Given the description of an element on the screen output the (x, y) to click on. 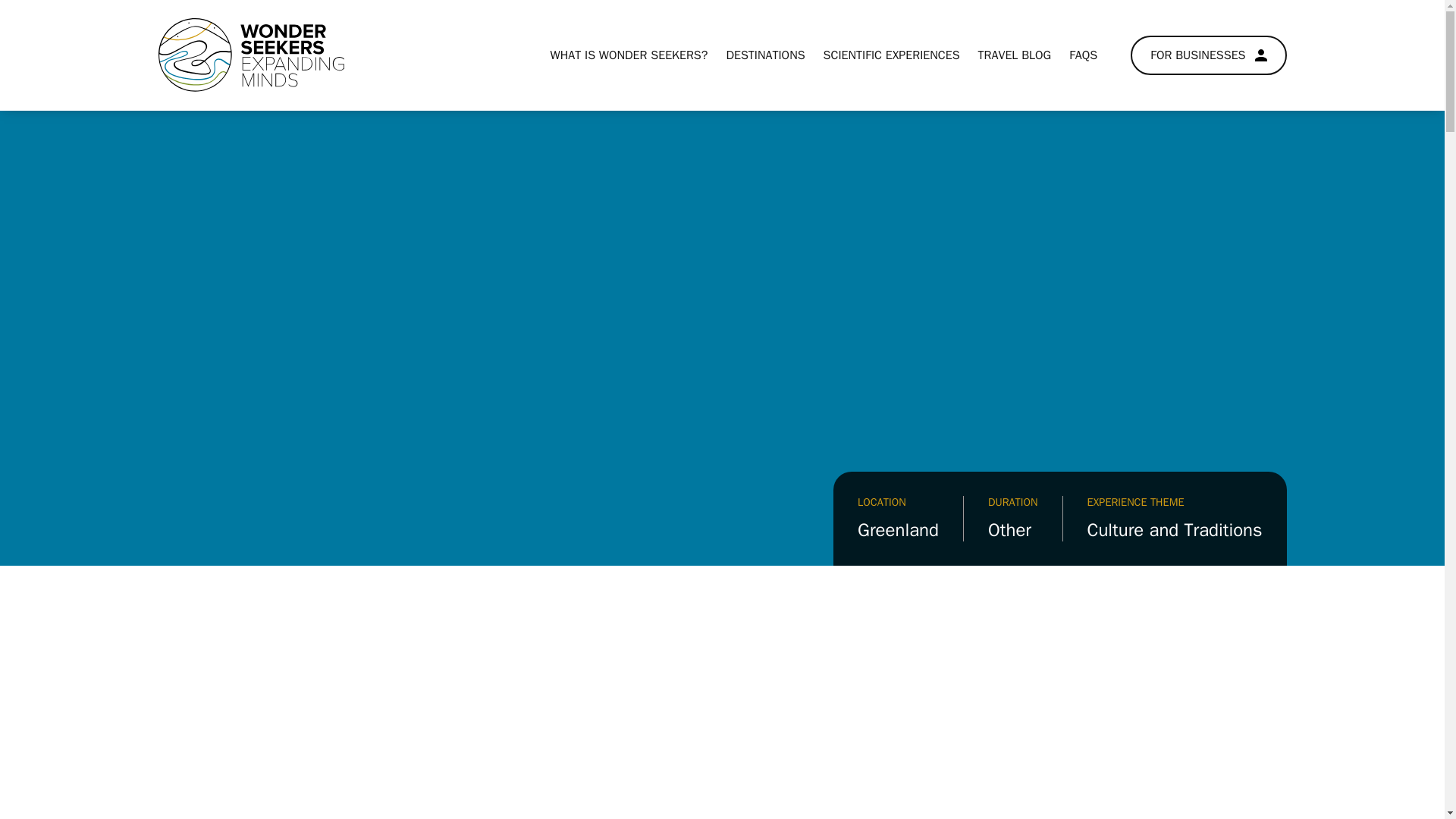
FOR BUSINESSES (1208, 55)
SCIENTIFIC EXPERIENCES (891, 55)
WHAT IS WONDER SEEKERS? (629, 55)
